Given the description of an element on the screen output the (x, y) to click on. 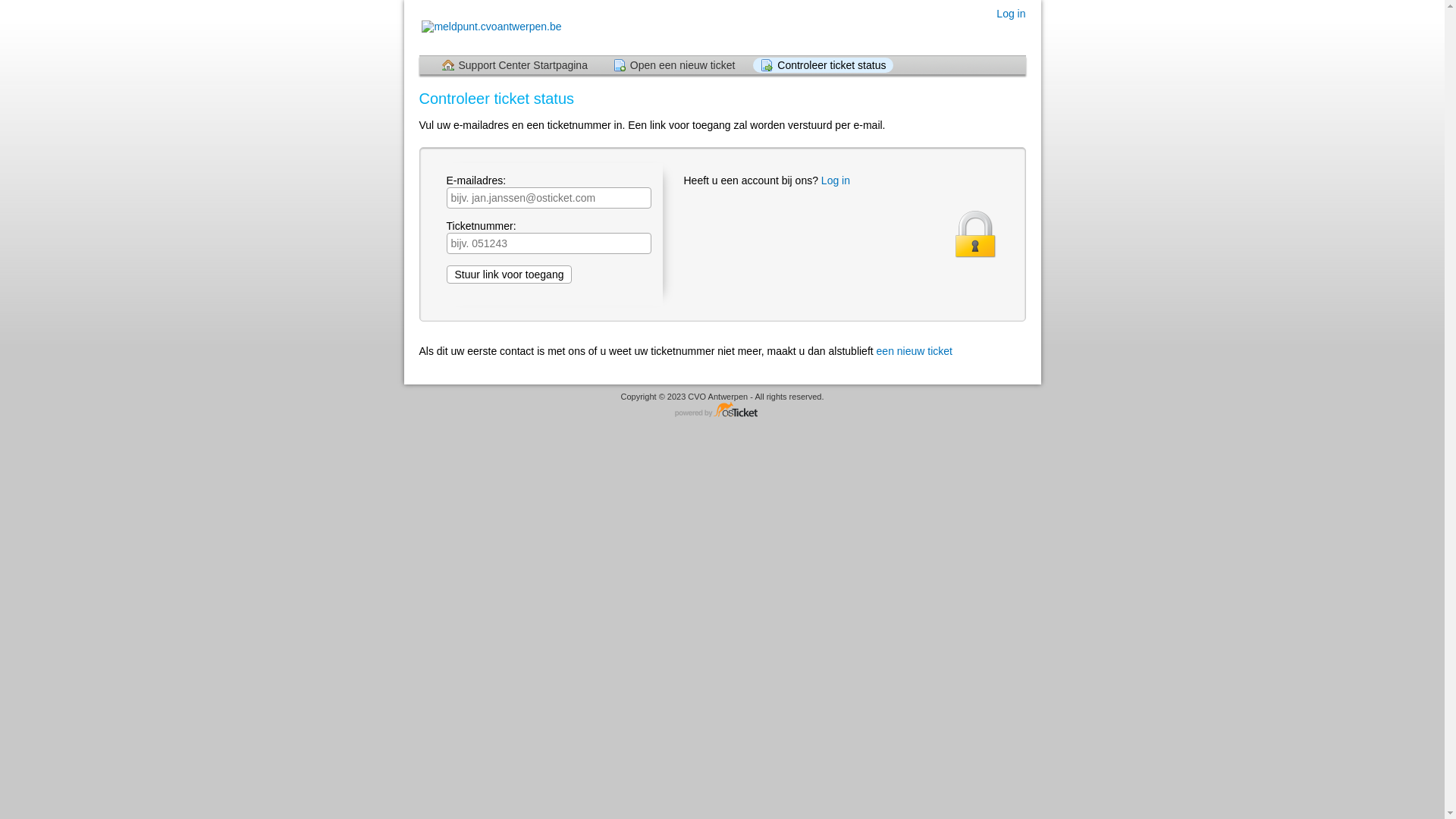
  Element type: text (1019, 32)
Helpdesk software - powered by osTicket Element type: text (722, 410)
English (United States) (Engels (Verenigde Staten)) Element type: hover (1019, 32)
Controleer ticket status Element type: text (823, 64)
Open een nieuw ticket Element type: text (674, 64)
Support Center Element type: hover (489, 26)
Log in Element type: text (835, 180)
  Element type: text (1004, 32)
Log in Element type: text (1010, 13)
Nederlands Element type: hover (1004, 32)
Stuur link voor toegang Element type: text (508, 274)
Support Center Startpagina Element type: text (513, 64)
een nieuw ticket Element type: text (914, 351)
